Given the description of an element on the screen output the (x, y) to click on. 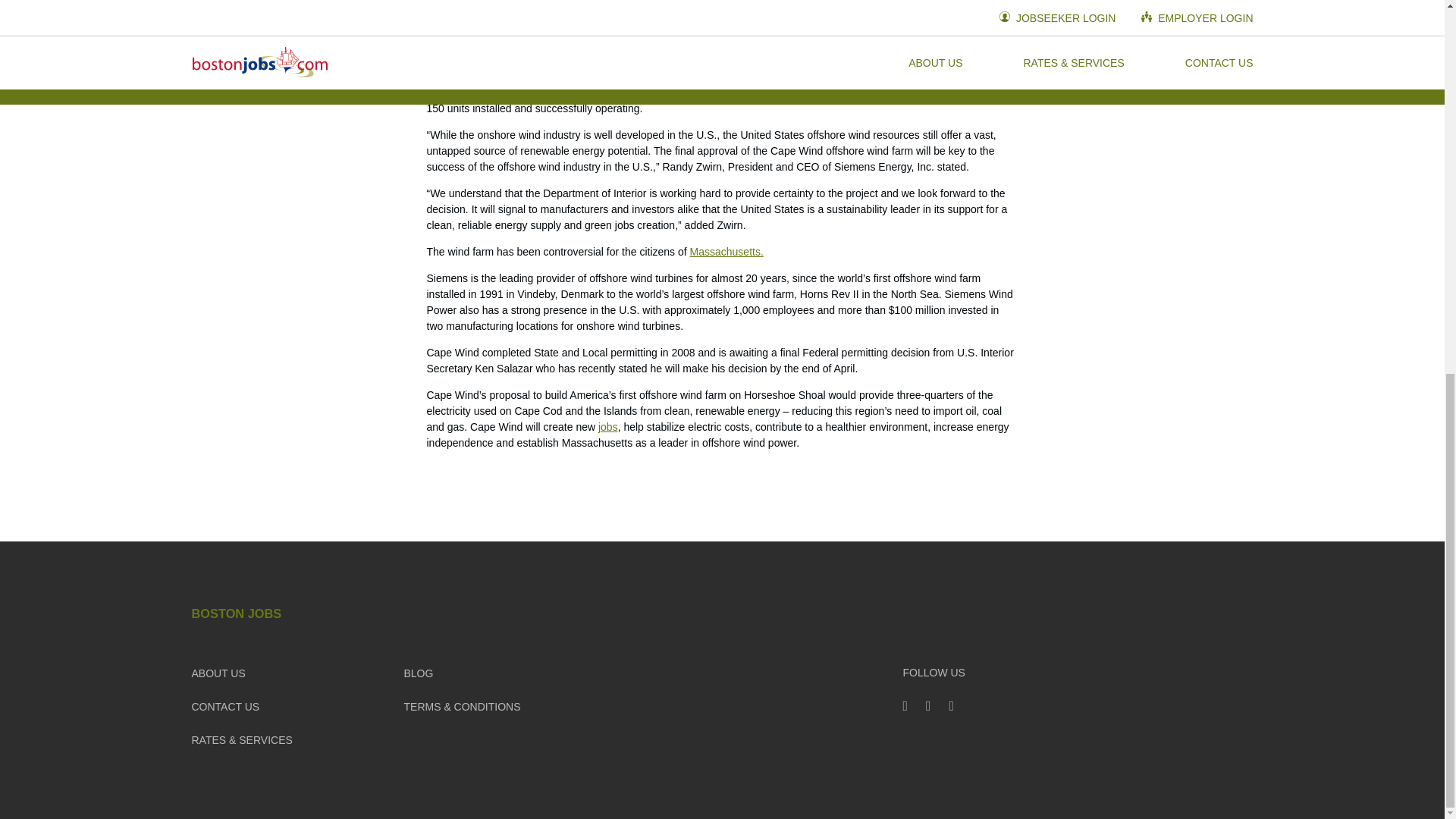
CONTACT US (224, 706)
Massachusetts. (726, 251)
jobs (607, 426)
BLOG (417, 673)
ABOUT US (217, 673)
MarketWatch (518, 92)
